Given the description of an element on the screen output the (x, y) to click on. 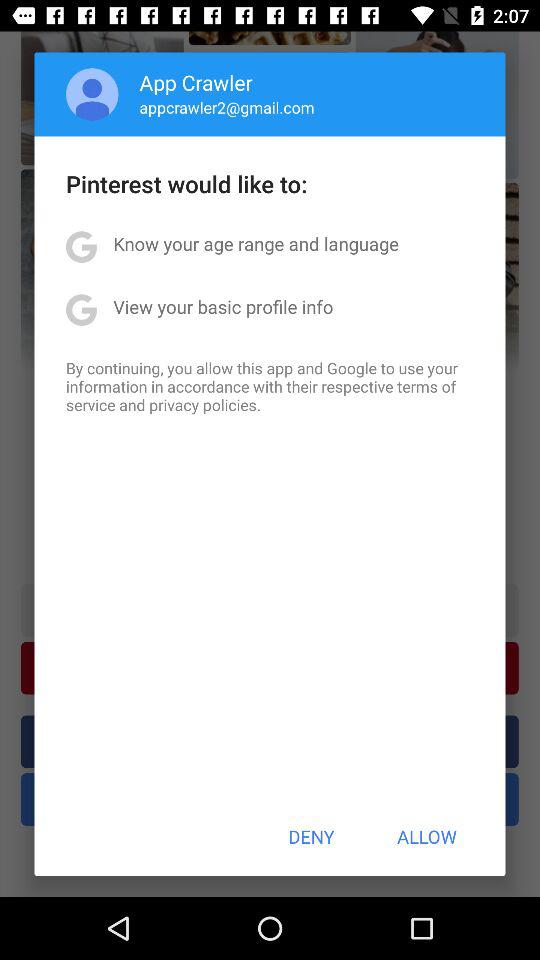
turn on the item above view your basic item (255, 243)
